Given the description of an element on the screen output the (x, y) to click on. 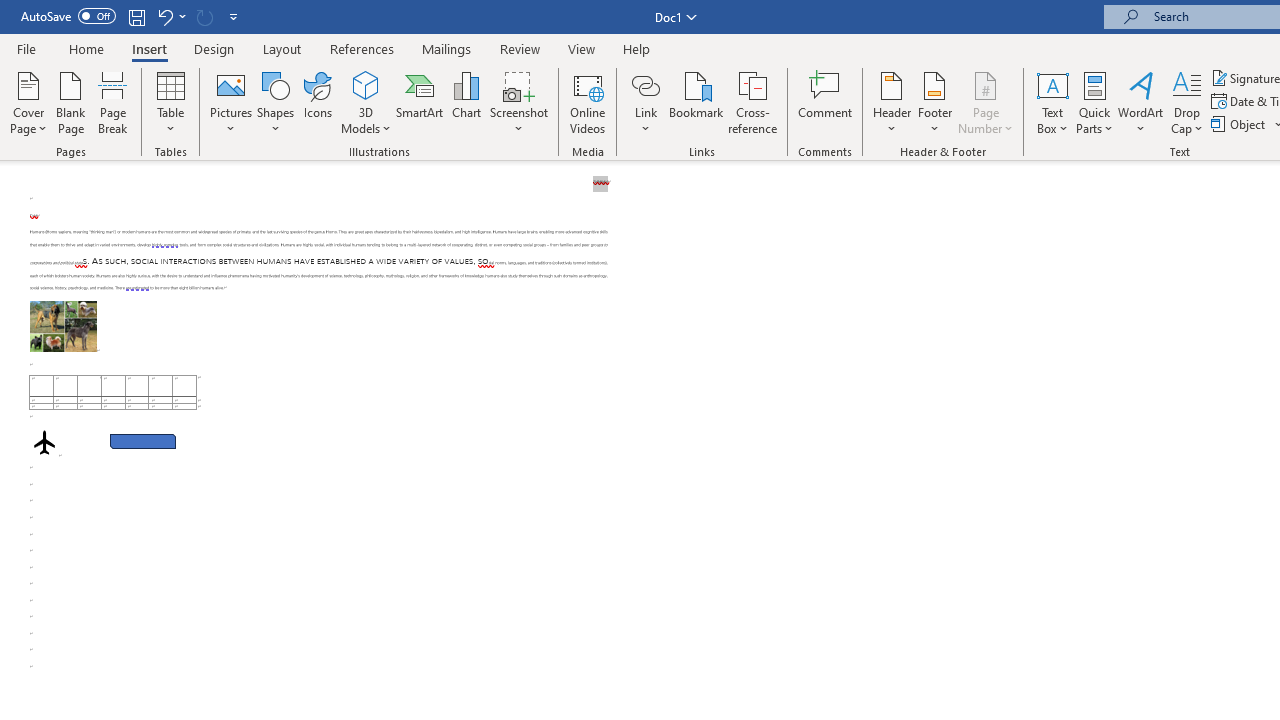
Chart... (466, 102)
Drop Cap (1187, 102)
Rectangle: Diagonal Corners Snipped 2 (143, 441)
Online Videos... (588, 102)
Save (136, 15)
Header (891, 102)
Icons (317, 102)
Pictures (230, 102)
Cross-reference... (752, 102)
Mailings (447, 48)
Cover Page (28, 102)
Quick Access Toolbar (131, 16)
Insert (149, 48)
Can't Repeat (204, 15)
